Given the description of an element on the screen output the (x, y) to click on. 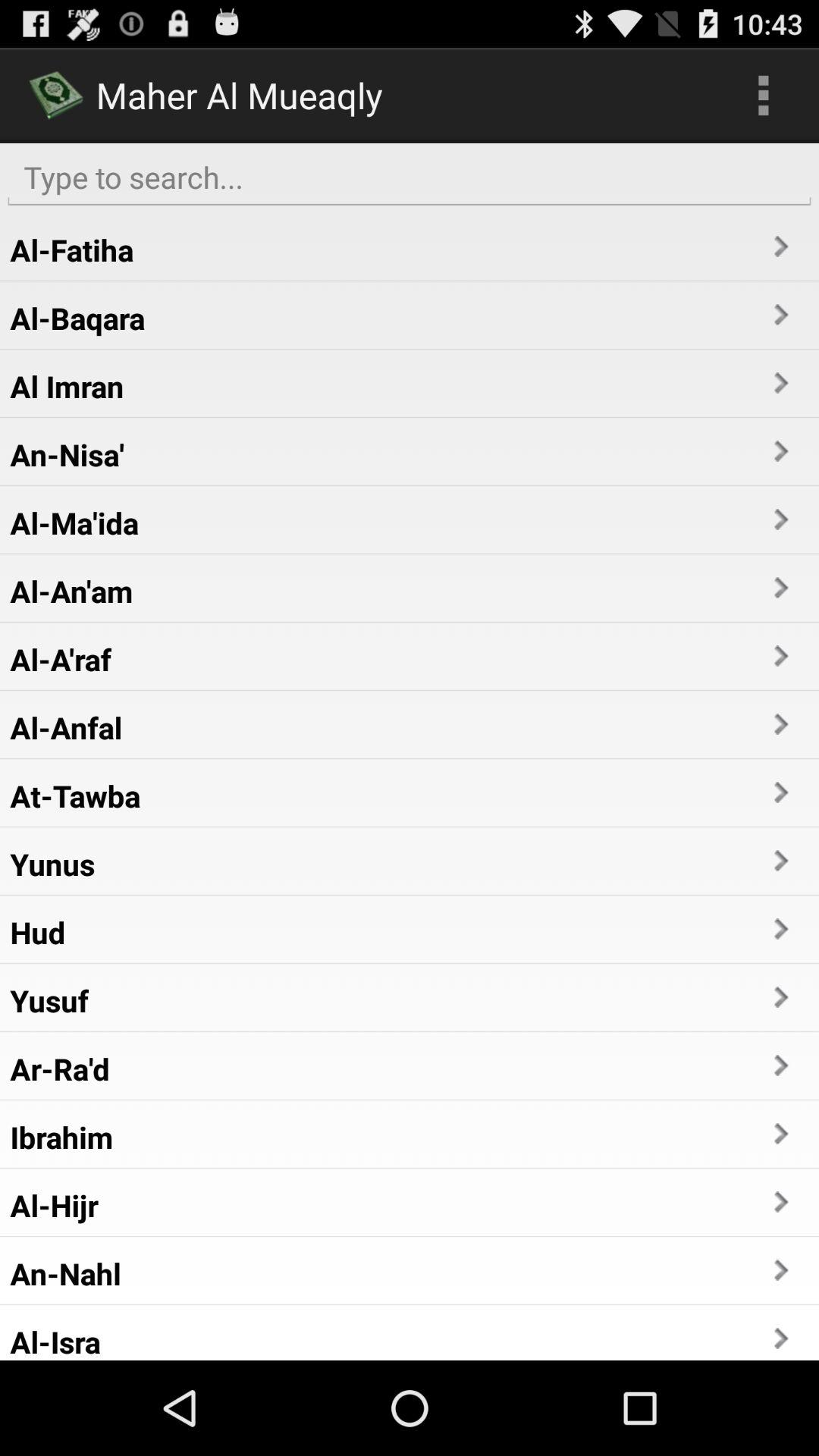
click the item to the right of ibrahim item (779, 1133)
